Given the description of an element on the screen output the (x, y) to click on. 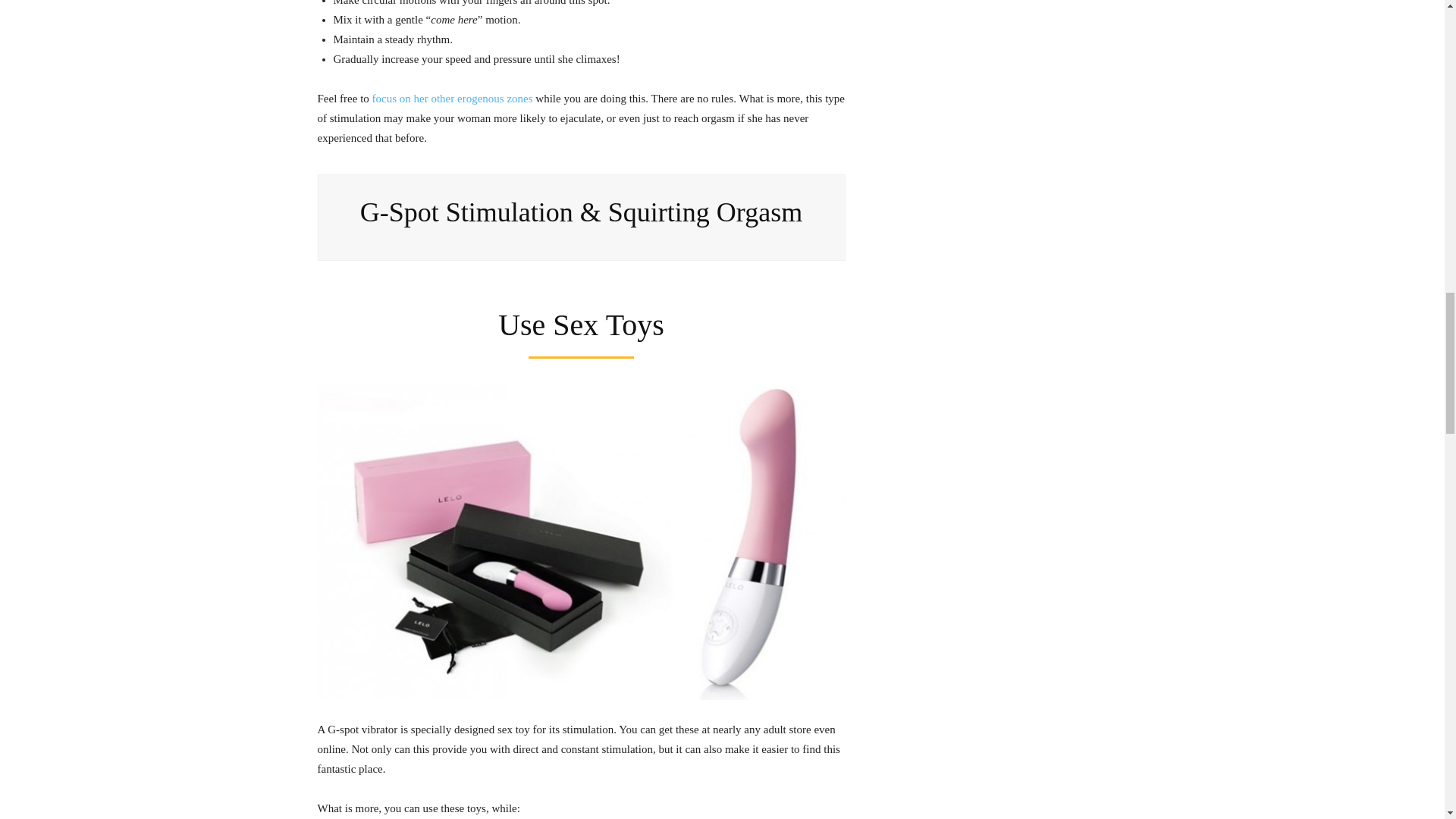
focus on her other erogenous zones (452, 98)
